Given the description of an element on the screen output the (x, y) to click on. 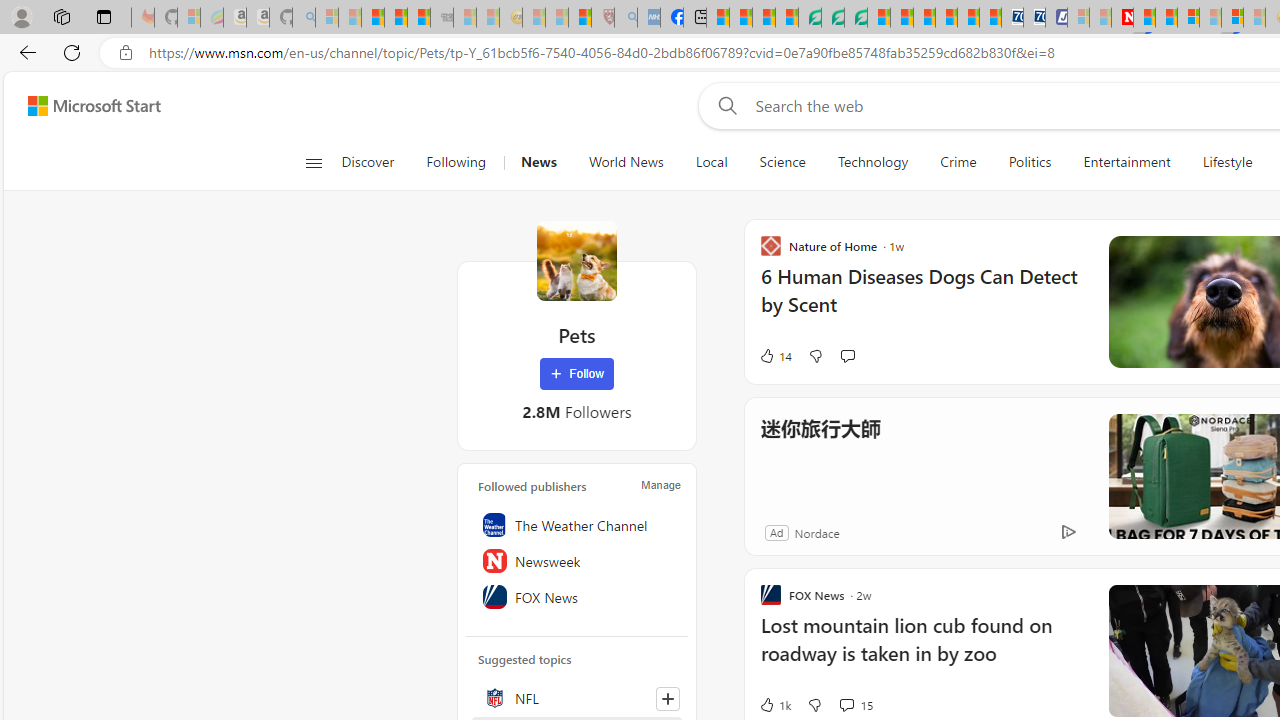
Lost mountain lion cub found on roadway is taken in by zoo (922, 650)
Class: button-glyph (313, 162)
Follow this topic (667, 698)
Crime (957, 162)
Entertainment (1126, 162)
Manage (660, 484)
View comments 15 Comment (854, 704)
Follow (577, 373)
NCL Adult Asthma Inhaler Choice Guideline - Sleeping (648, 17)
Start the conversation (847, 355)
